Given the description of an element on the screen output the (x, y) to click on. 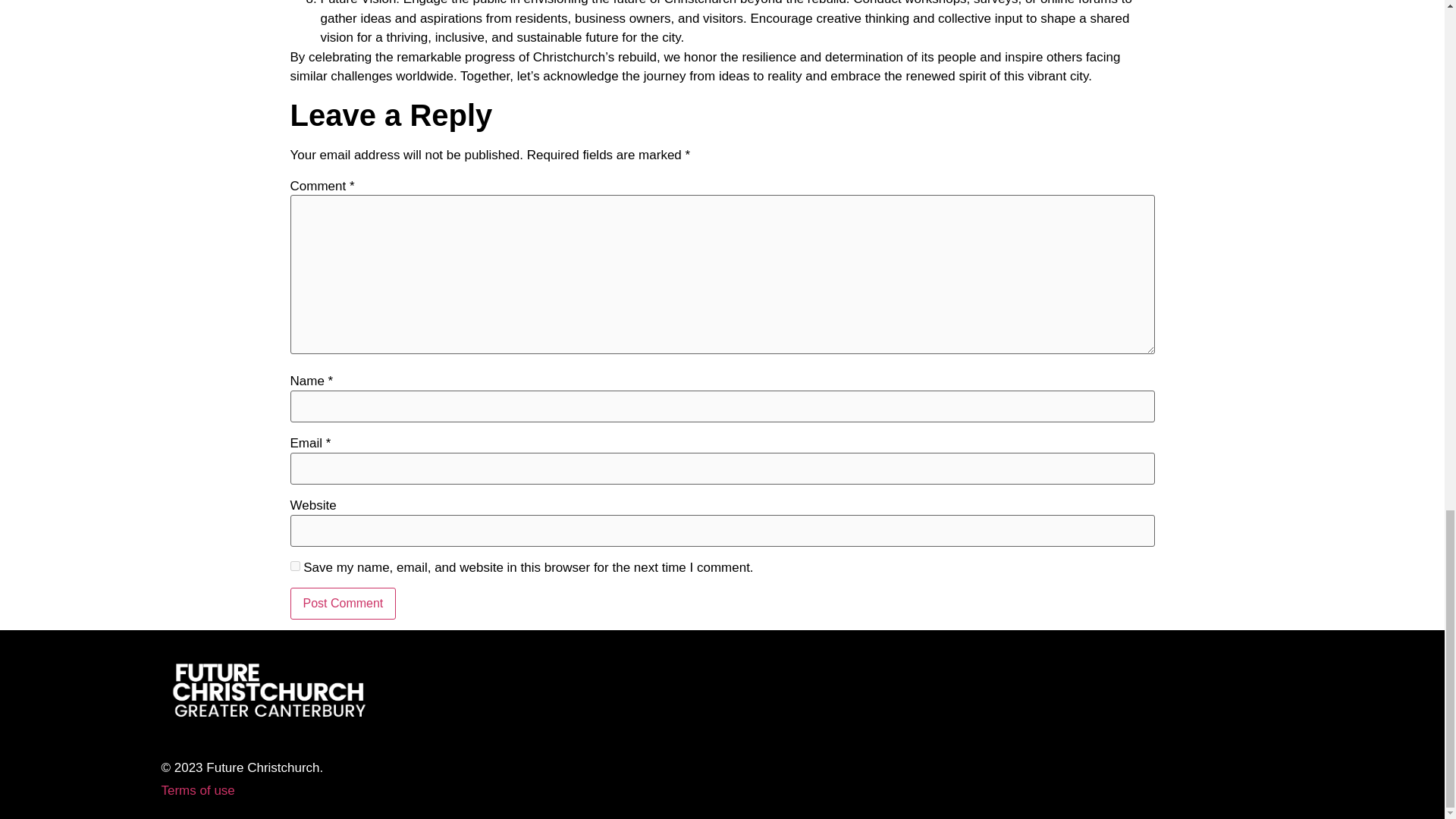
Post Comment (342, 603)
yes (294, 565)
Terms of use (197, 789)
Post Comment (342, 603)
